Given the description of an element on the screen output the (x, y) to click on. 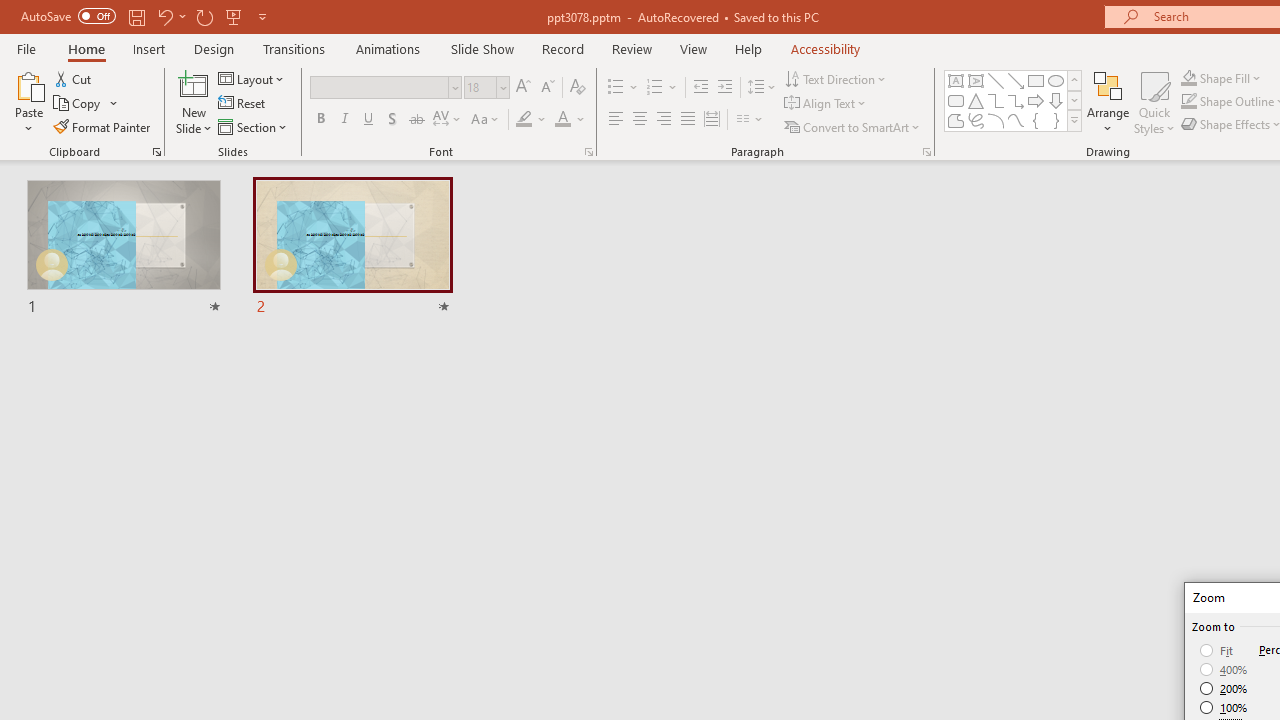
400% (1224, 669)
Fit (1217, 650)
